Given the description of an element on the screen output the (x, y) to click on. 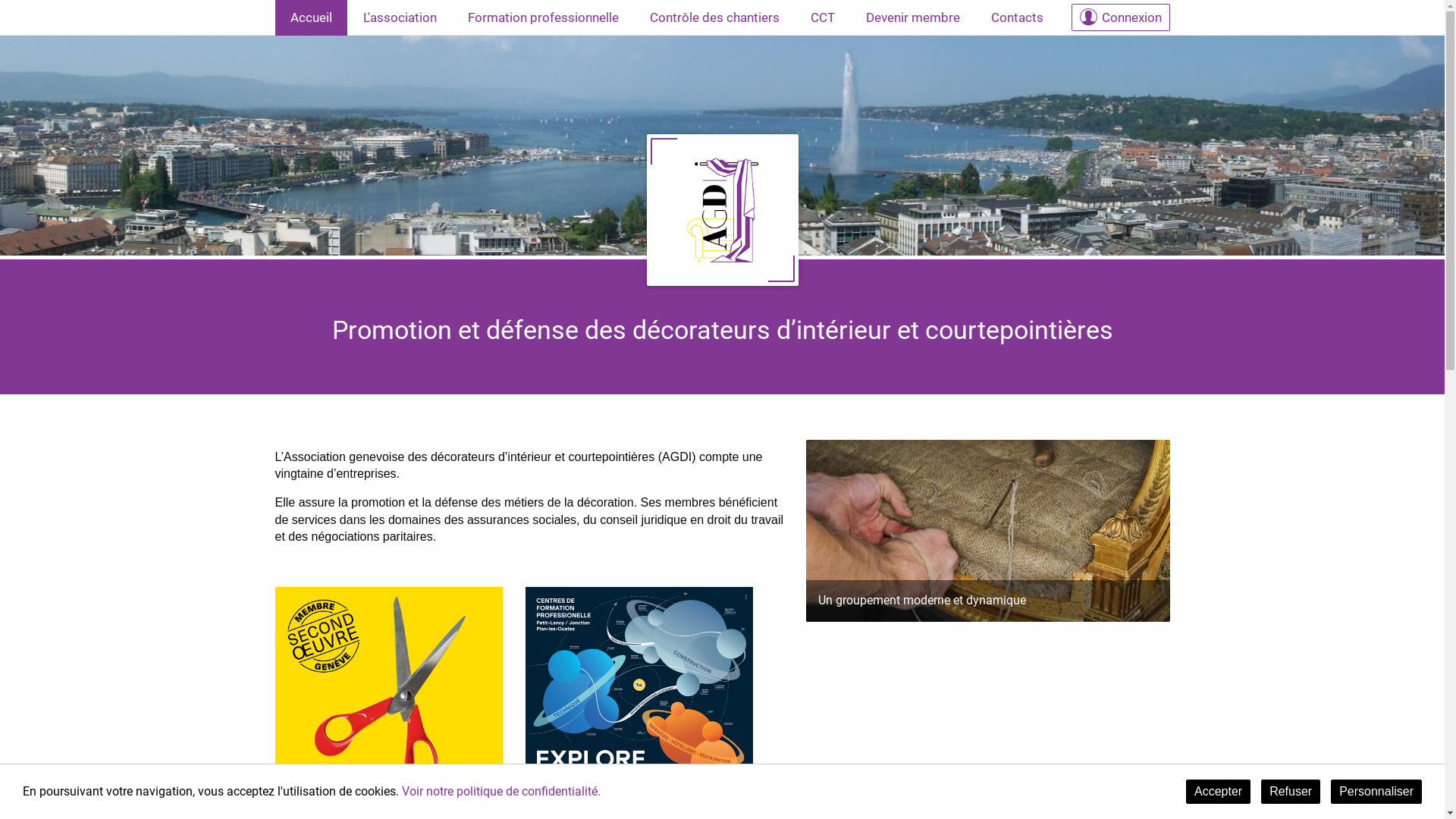
Contacts Element type: text (1016, 17)
CCT Element type: text (821, 17)
Personnaliser Element type: text (1375, 791)
L'association Element type: text (399, 17)
Un groupement moderne et dynamique Element type: hover (987, 530)
Accueil Element type: text (310, 17)
Connexion Element type: text (1119, 17)
Accepter Element type: text (1218, 791)
Refuser Element type: text (1290, 791)
Devenir membre Element type: text (912, 17)
Formation professionnelle Element type: text (542, 17)
